Given the description of an element on the screen output the (x, y) to click on. 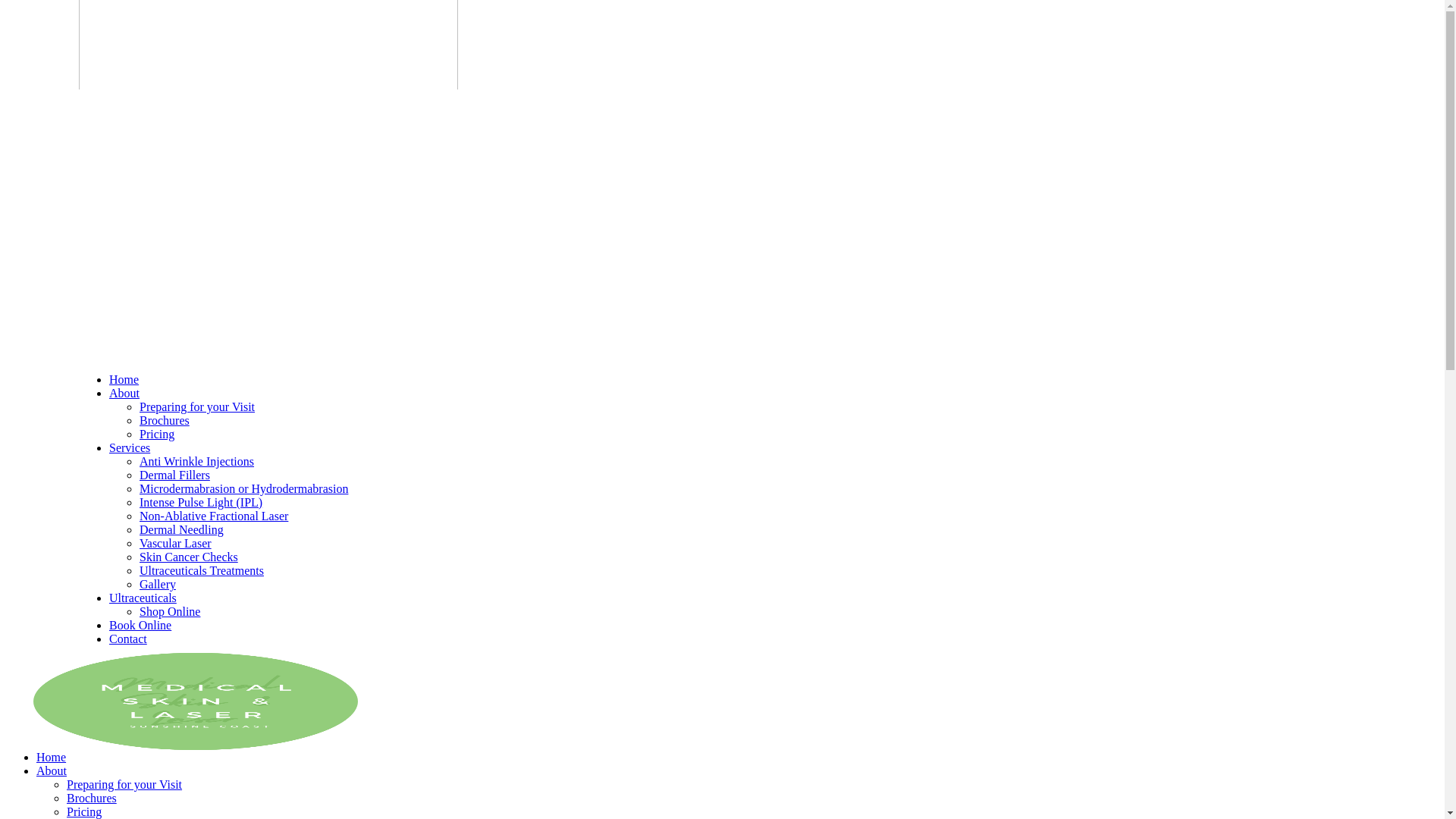
Shop Online Element type: text (169, 611)
Home Element type: text (123, 379)
Dermal Fillers Element type: text (174, 474)
Skin Cancer Checks Element type: text (188, 556)
Preparing for your Visit Element type: text (124, 784)
About Element type: text (51, 770)
Ultraceuticals Element type: text (142, 597)
Brochures Element type: text (164, 420)
Contact Element type: text (128, 638)
Book Online Element type: text (140, 624)
Vascular Laser Element type: text (175, 542)
Services Element type: text (129, 447)
Preparing for your Visit Element type: text (196, 406)
Ultraceuticals Treatments Element type: text (201, 570)
Brochures Element type: text (91, 797)
Intense Pulse Light (IPL) Element type: text (200, 501)
07 5441 1455 Element type: text (111, 667)
Pricing Element type: text (83, 811)
Dermal Needling Element type: text (181, 529)
Non-Ablative Fractional Laser Element type: text (213, 515)
Home Element type: text (50, 756)
Gallery Element type: text (157, 583)
About Element type: text (124, 392)
Pricing Element type: text (156, 433)
Anti Wrinkle Injections Element type: text (196, 461)
Microdermabrasion or Hydrodermabrasion Element type: text (243, 488)
